Given the description of an element on the screen output the (x, y) to click on. 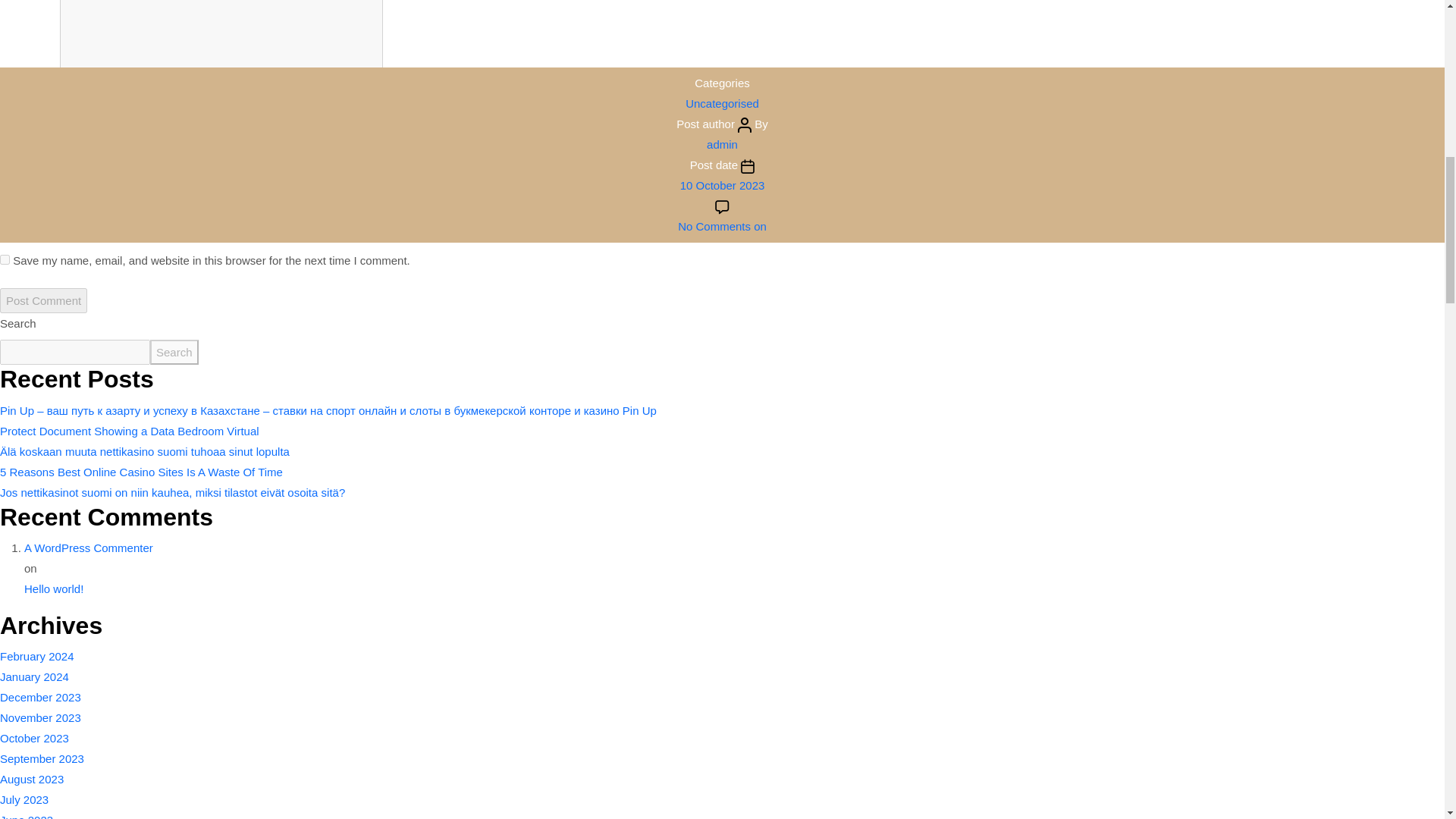
Post Comment (43, 300)
Search (173, 351)
yes (5, 259)
Post Comment (43, 300)
